Given the description of an element on the screen output the (x, y) to click on. 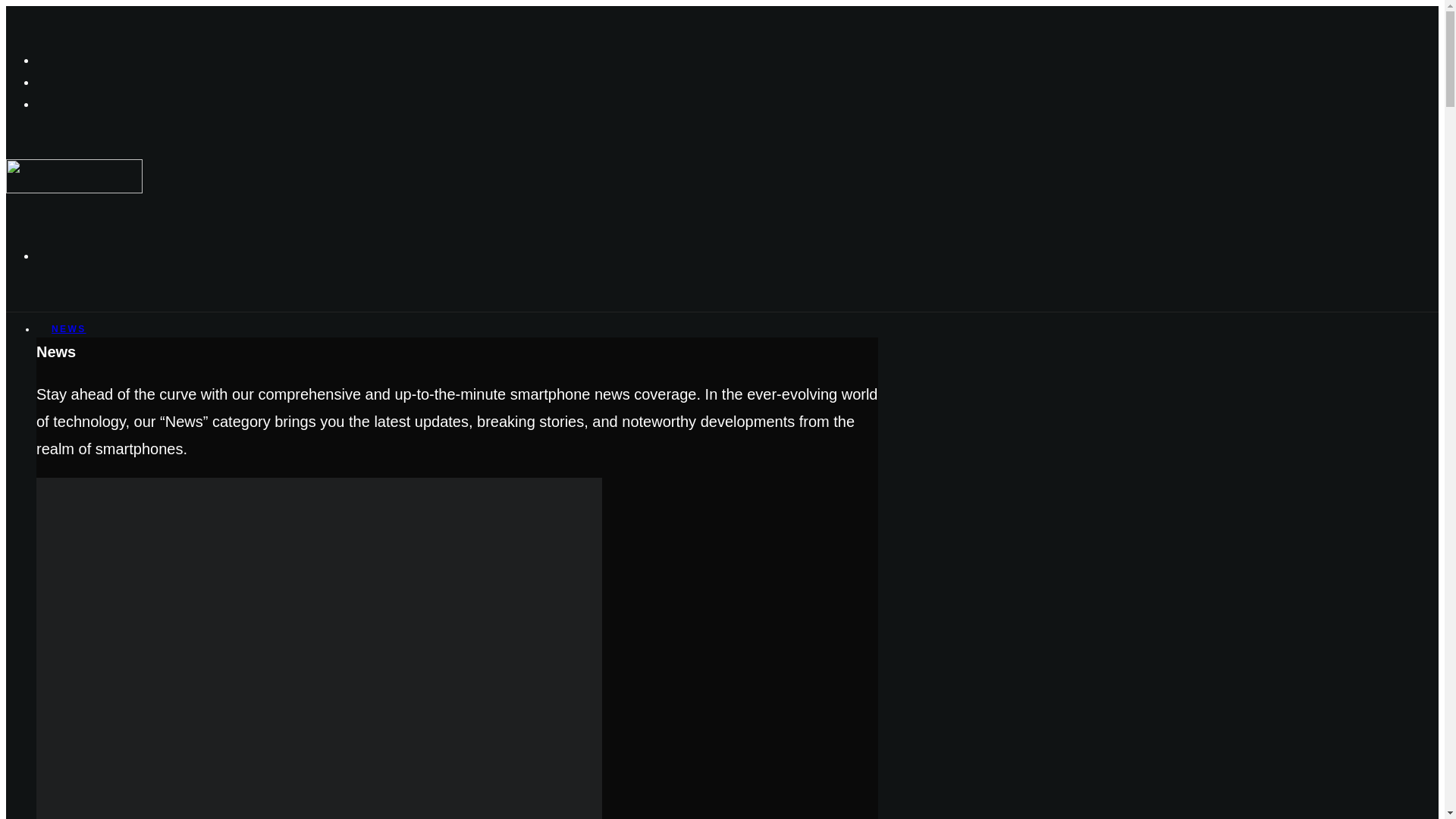
NEWS (68, 328)
